Given the description of an element on the screen output the (x, y) to click on. 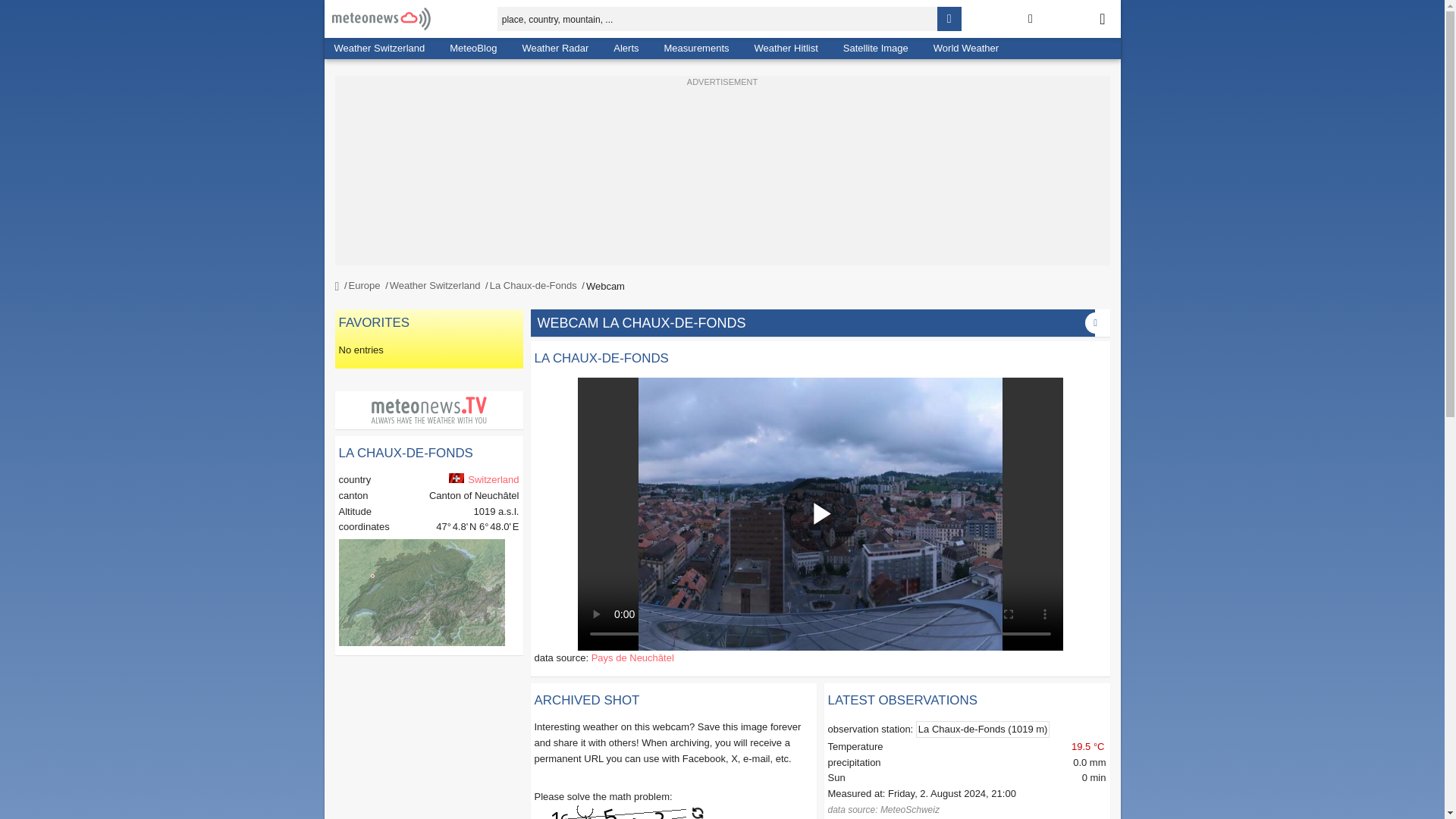
Play Video (820, 513)
Weather Switzerland (379, 47)
MeteoBlog (472, 47)
